Given the description of an element on the screen output the (x, y) to click on. 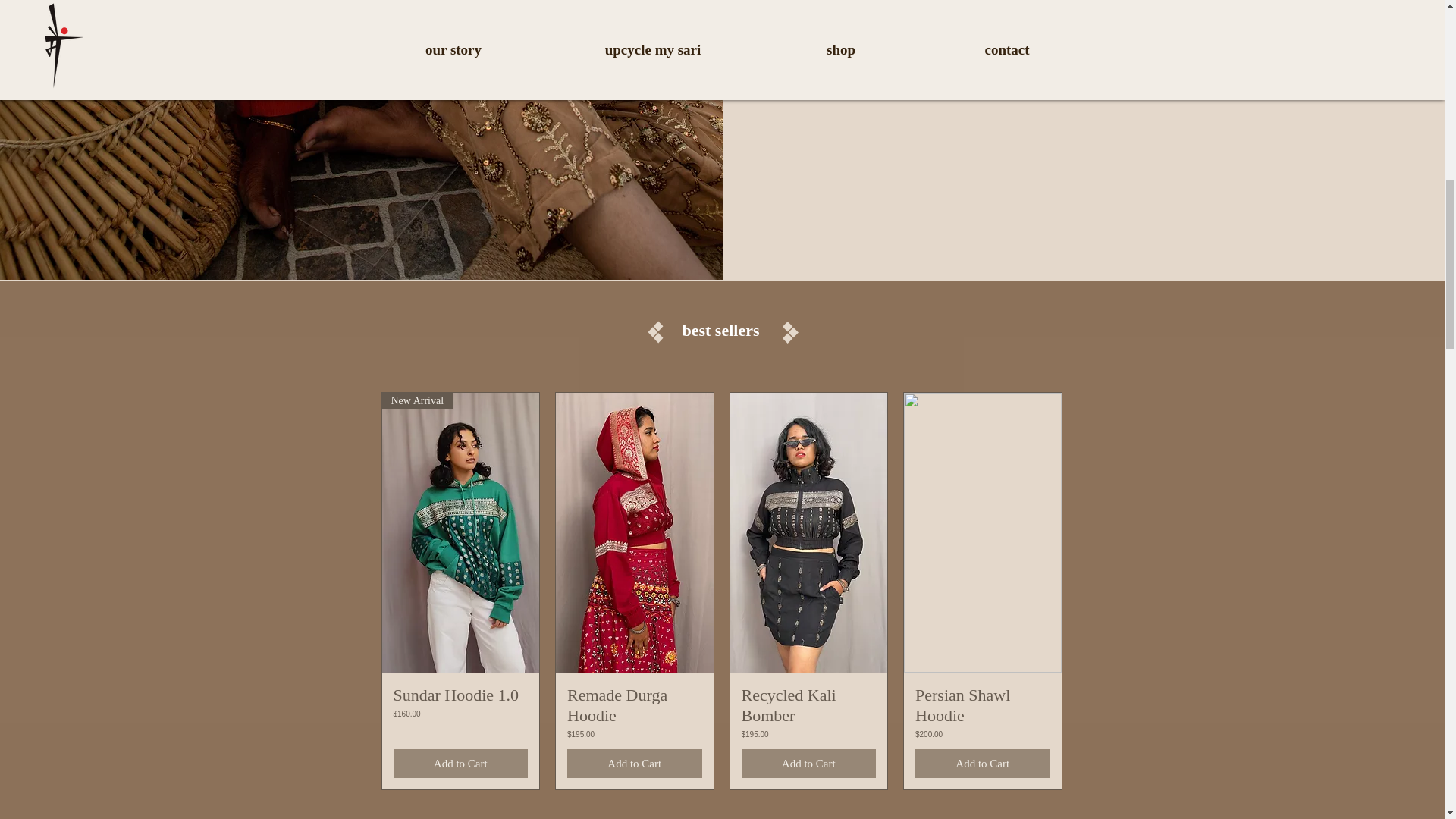
Add to Cart (460, 763)
Add to Cart (808, 763)
Add to Cart (982, 763)
Add to Cart (634, 763)
